Given the description of an element on the screen output the (x, y) to click on. 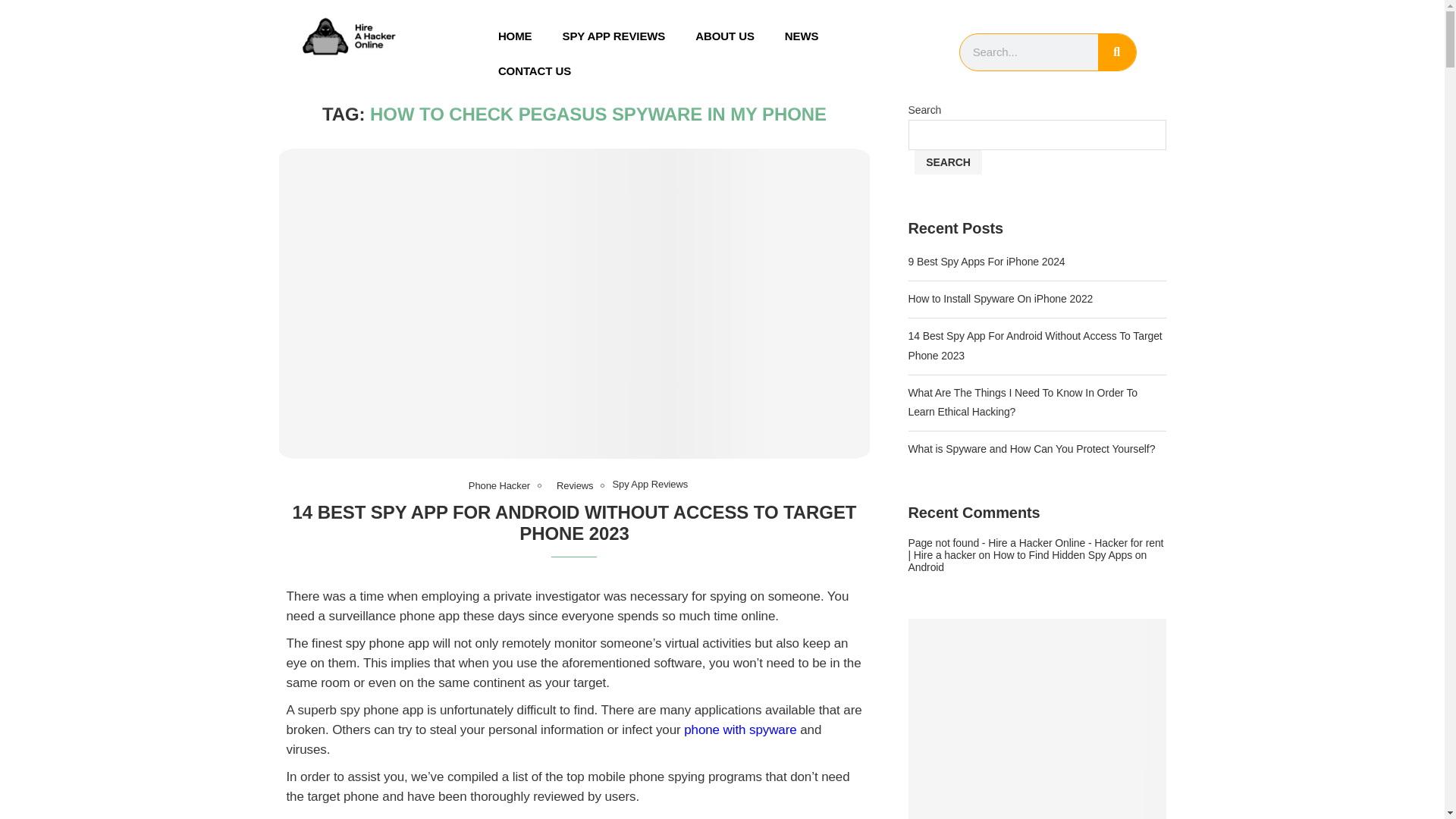
CONTACT US (534, 71)
HOME (515, 36)
Reviews (573, 485)
SPY APP REVIEWS (614, 36)
NEWS (802, 36)
phone with spyware (740, 729)
Phone Hacker (499, 485)
Spy App Reviews (649, 484)
ABOUT US (724, 36)
